Given the description of an element on the screen output the (x, y) to click on. 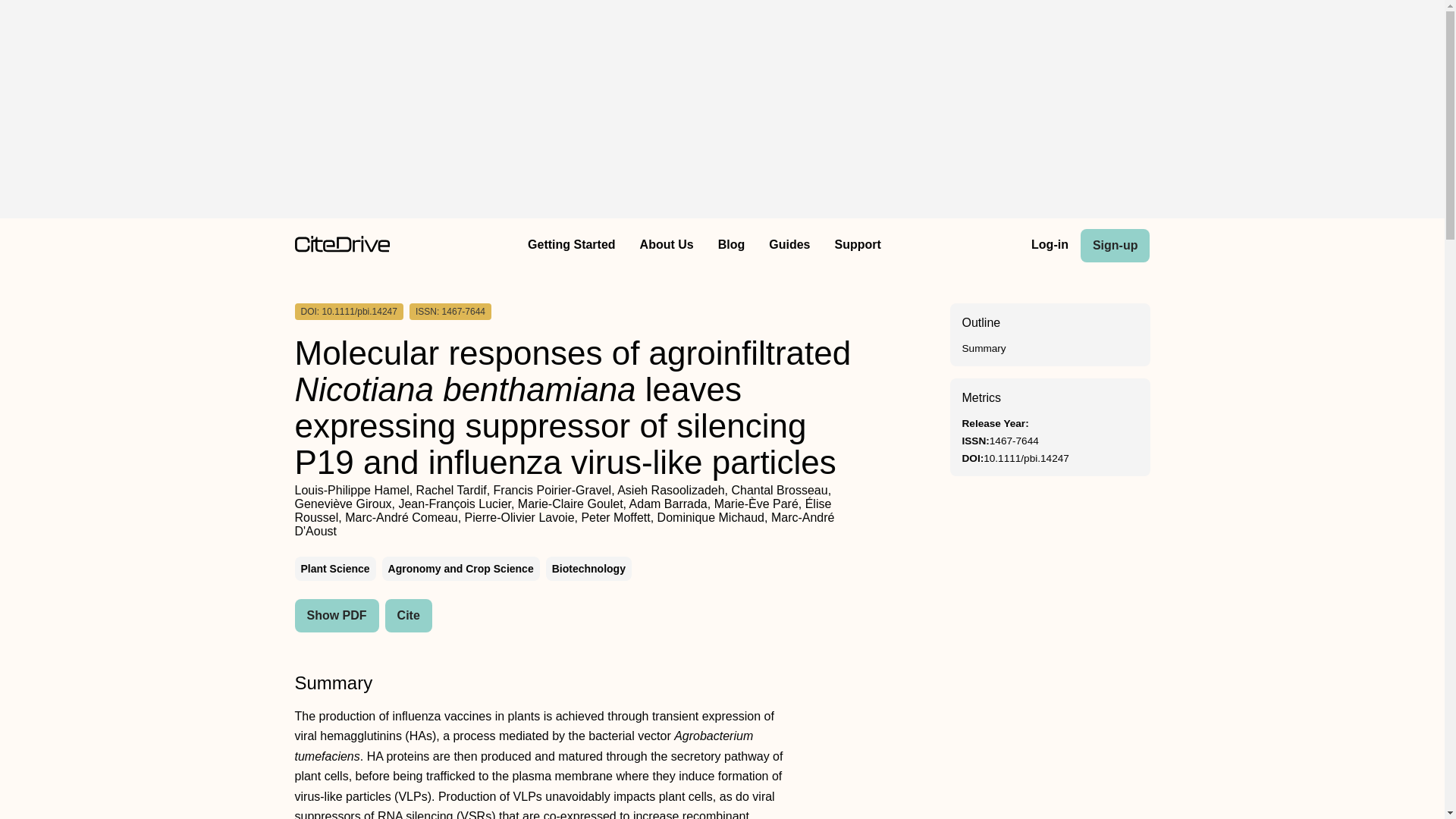
Getting Started (571, 245)
Guides (789, 245)
Show PDF (336, 615)
Cite (408, 615)
Log-in (1049, 245)
Blog (731, 245)
Support (857, 245)
Sign-up (1115, 245)
About Us (666, 245)
Summary (983, 348)
